Given the description of an element on the screen output the (x, y) to click on. 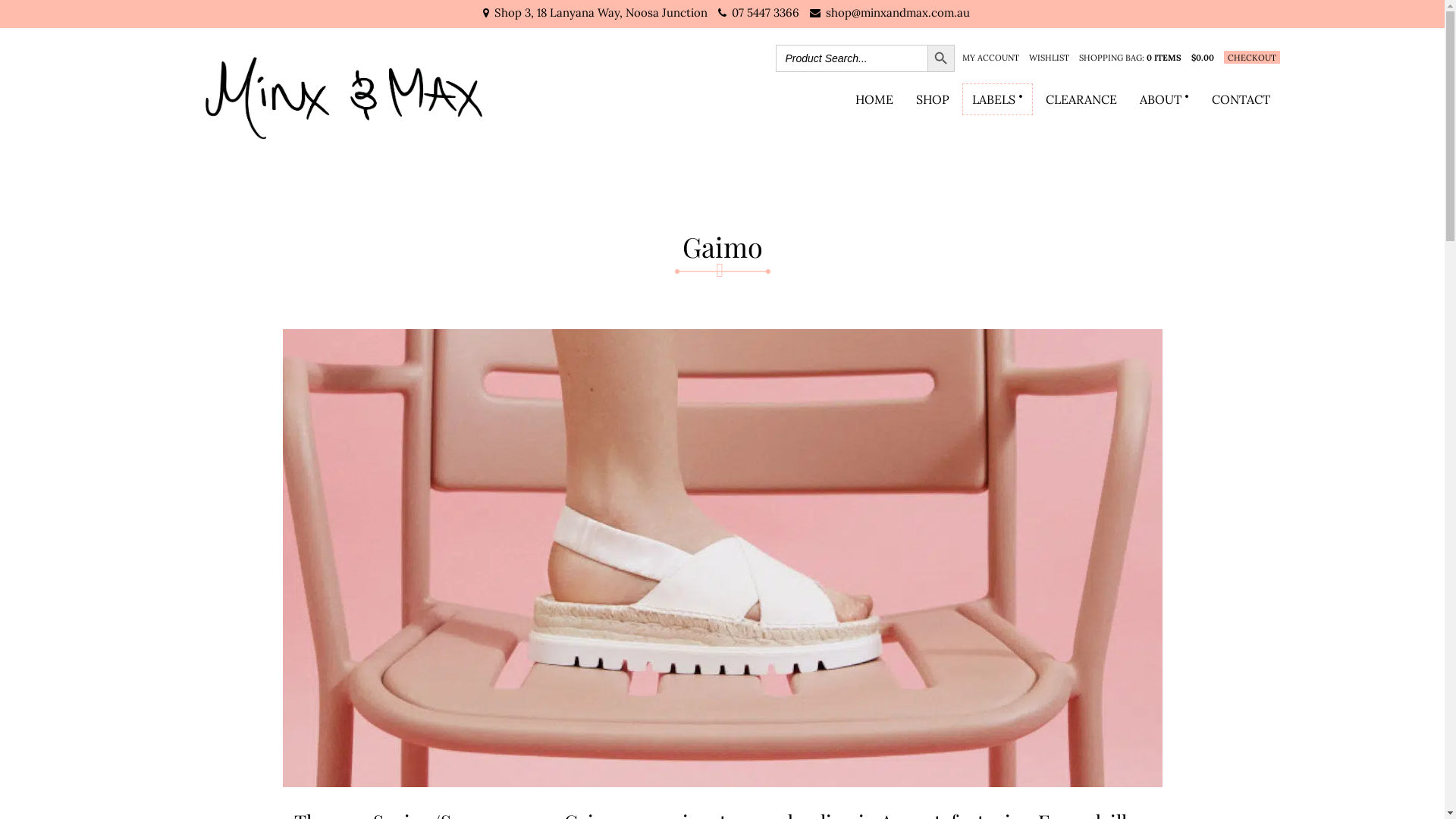
0 ITEMS Element type: text (1163, 57)
07 5447 3366 Element type: text (764, 12)
MY ACCOUNT Element type: text (989, 57)
ABOUT Element type: text (1163, 99)
SEARCH BUTTON Element type: text (939, 58)
CONTACT Element type: text (1240, 99)
Call Us Element type: text (32, 13)
WISHLIST Element type: text (1048, 57)
CLEARANCE Element type: text (1080, 99)
HOME Element type: text (873, 99)
LABELS Element type: text (996, 99)
CHECKOUT Element type: text (1251, 56)
SHOP Element type: text (931, 99)
